Given the description of an element on the screen output the (x, y) to click on. 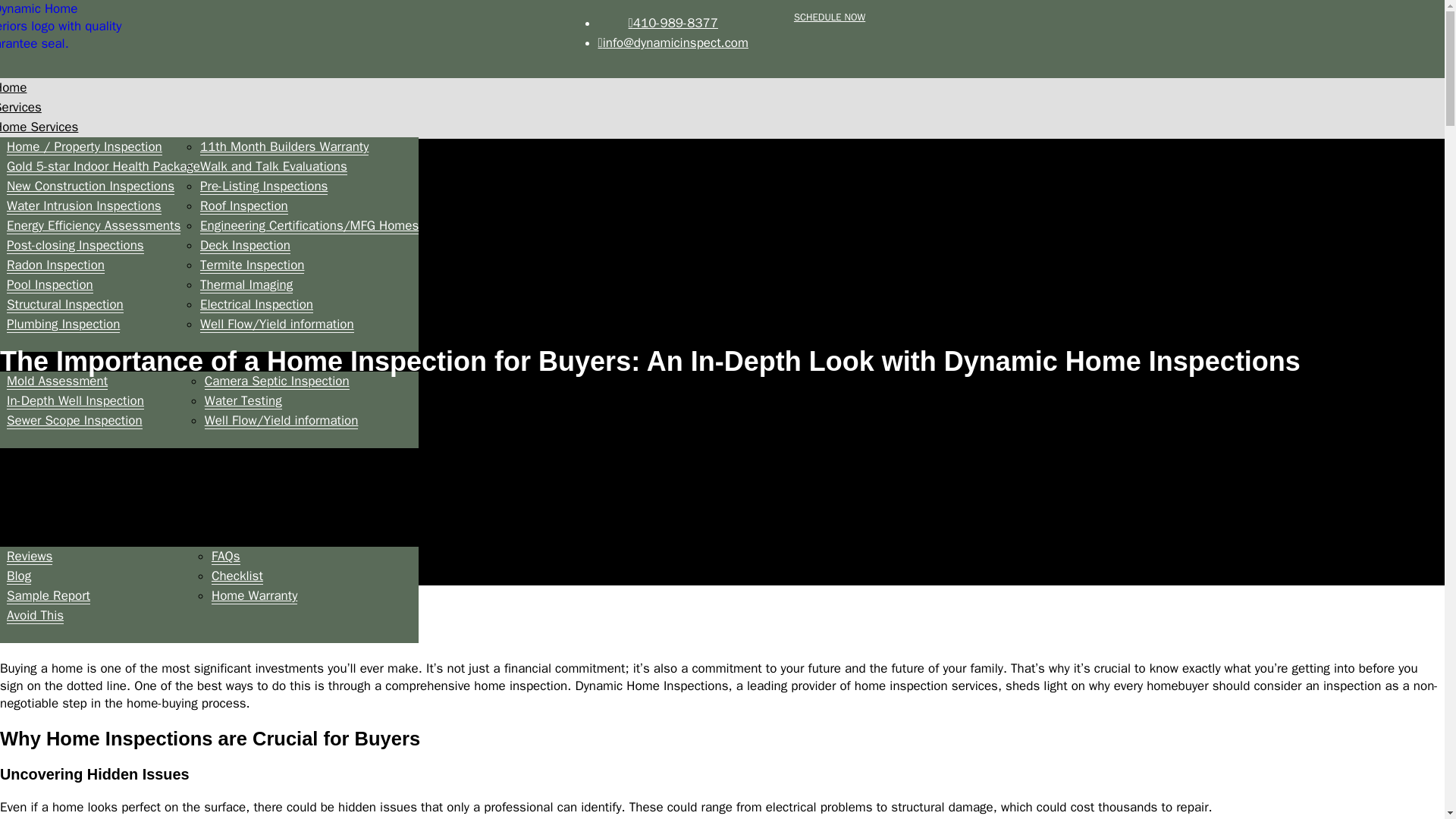
11th Month Builders Warranty (284, 146)
Camera Septic Inspection (277, 381)
Electrical Inspection (256, 304)
Thermal Imaging (246, 284)
In-Depth Well Inspection (75, 401)
SCHEDULE NOW (828, 17)
About (13, 477)
Roof Inspection (244, 206)
Team (12, 496)
Walk and Talk Evaluations (273, 166)
